Given the description of an element on the screen output the (x, y) to click on. 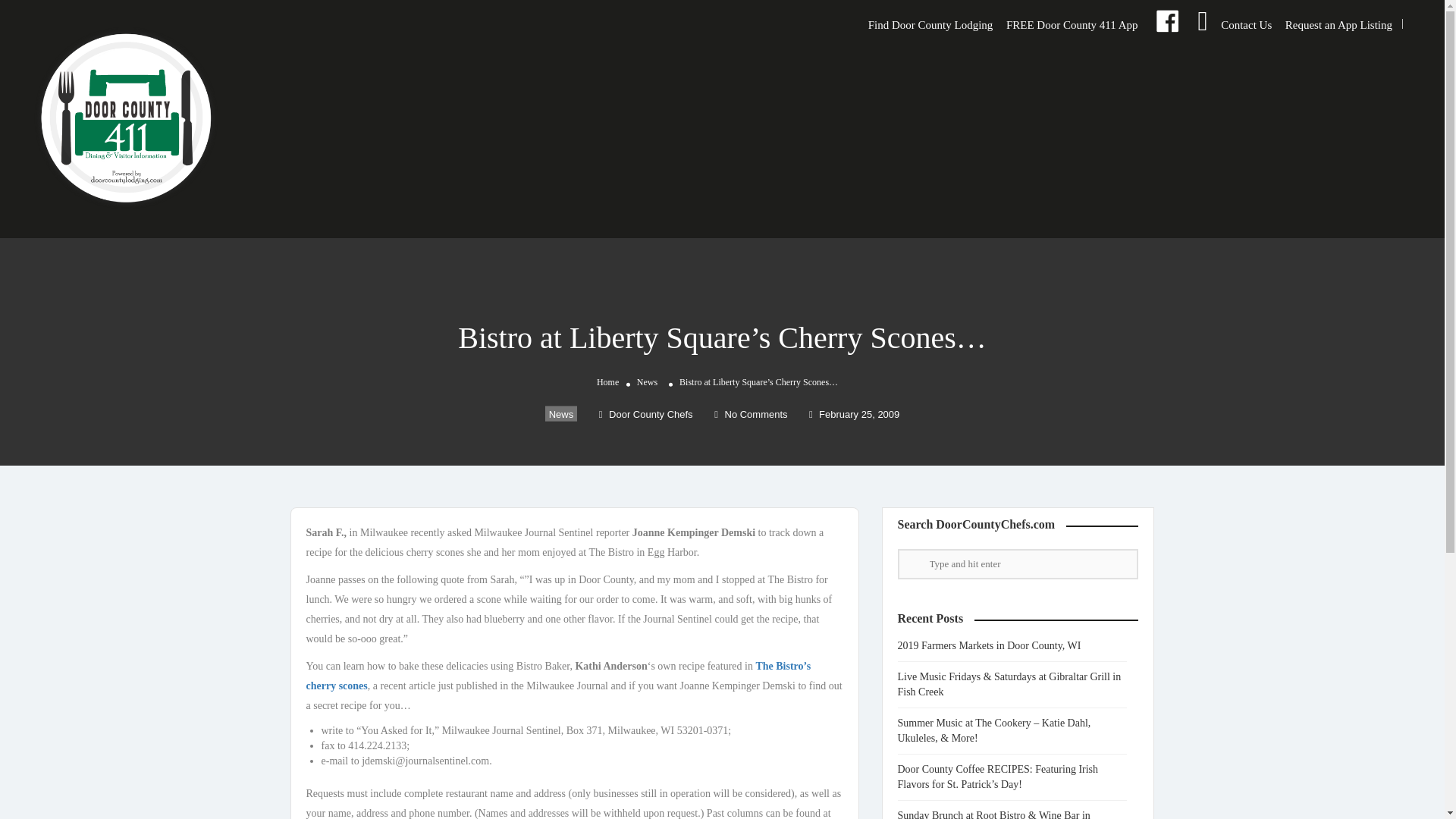
Door County Chefs (645, 414)
Find Door County Lodging (929, 24)
Contact Us (1246, 24)
Facebook (1165, 24)
No Comments (750, 414)
Instagram (1201, 24)
Request an App Listing (1338, 24)
FREE Door County 411 App (1072, 24)
2019 Farmers Markets in Door County, WI (997, 645)
Home (607, 381)
